Given the description of an element on the screen output the (x, y) to click on. 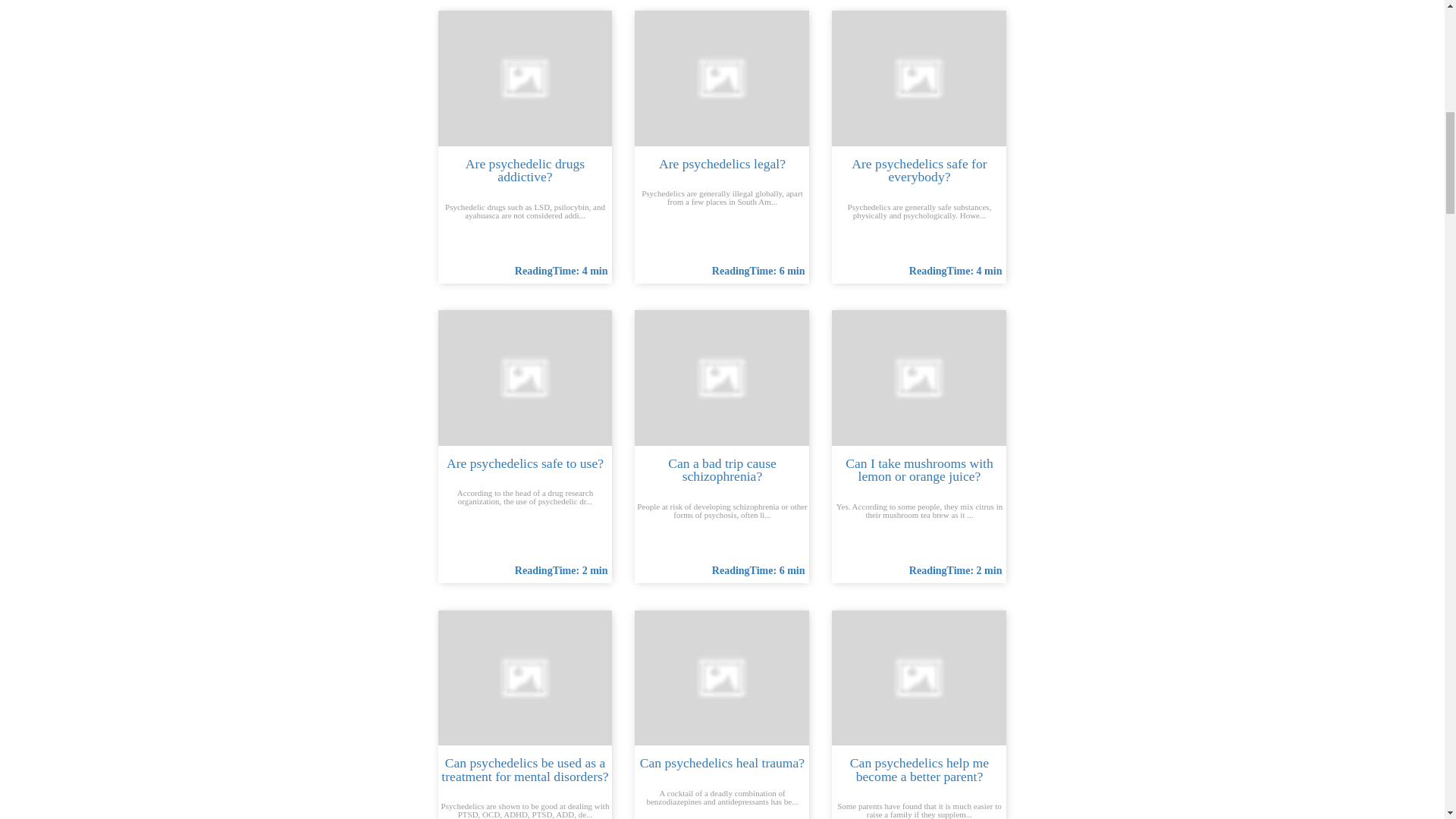
Read Are psychedelics legal? (722, 163)
ReadingTime: 6 min (758, 271)
Are psychedelics safe for everybody? (919, 170)
Are psychedelic drugs addictive? (525, 77)
Are psychedelics safe for everybody? (918, 77)
ReadingTime: 4 min (561, 271)
Read Are psychedelic drugs addictive? - Reading Time: 4 min (561, 271)
Are psychedelics safe to use? (525, 377)
Read Are psychedelics safe to use? (525, 462)
